Given the description of an element on the screen output the (x, y) to click on. 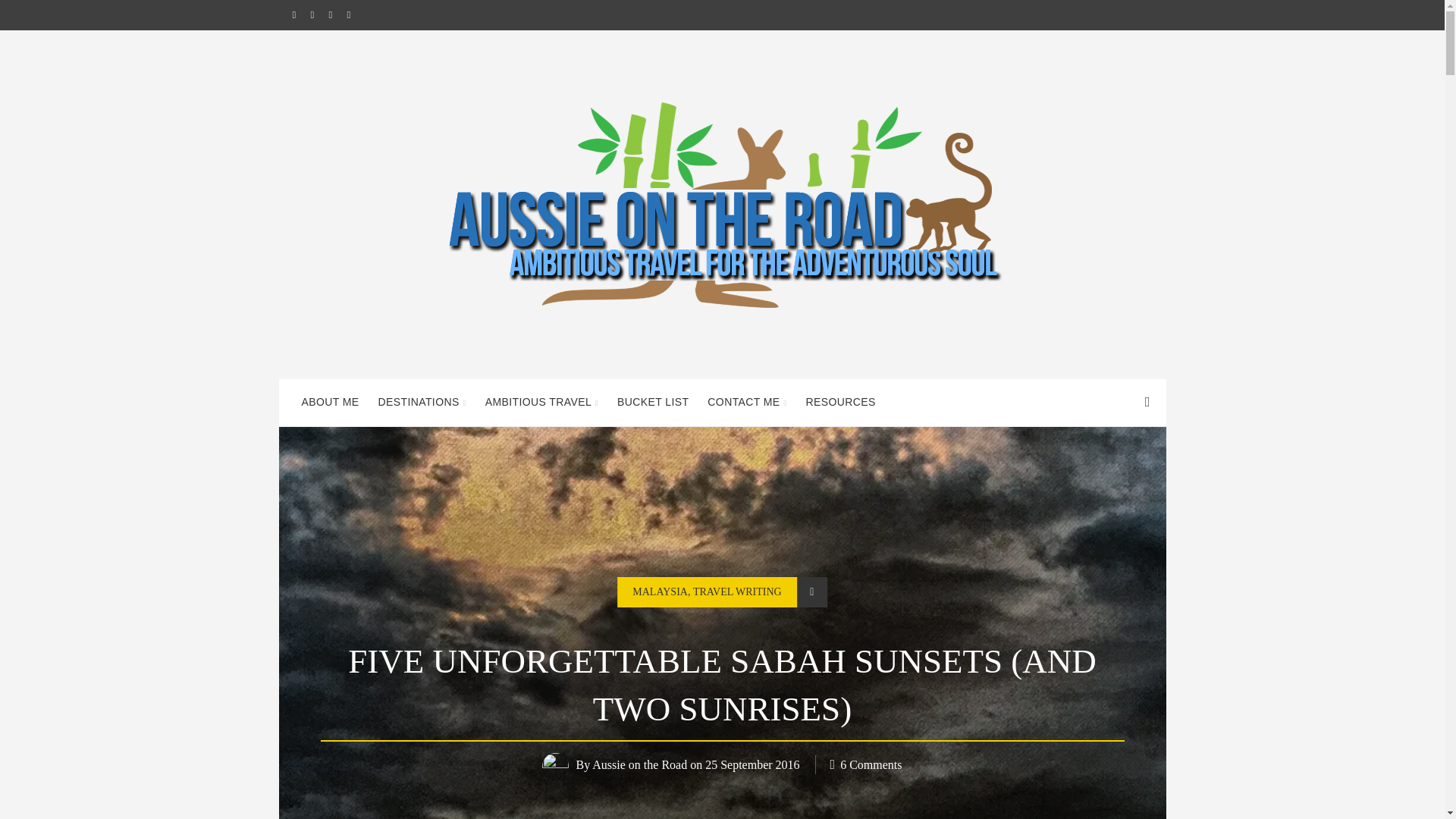
DESTINATIONS (421, 402)
ABOUT ME (330, 402)
Standard (811, 592)
